Given the description of an element on the screen output the (x, y) to click on. 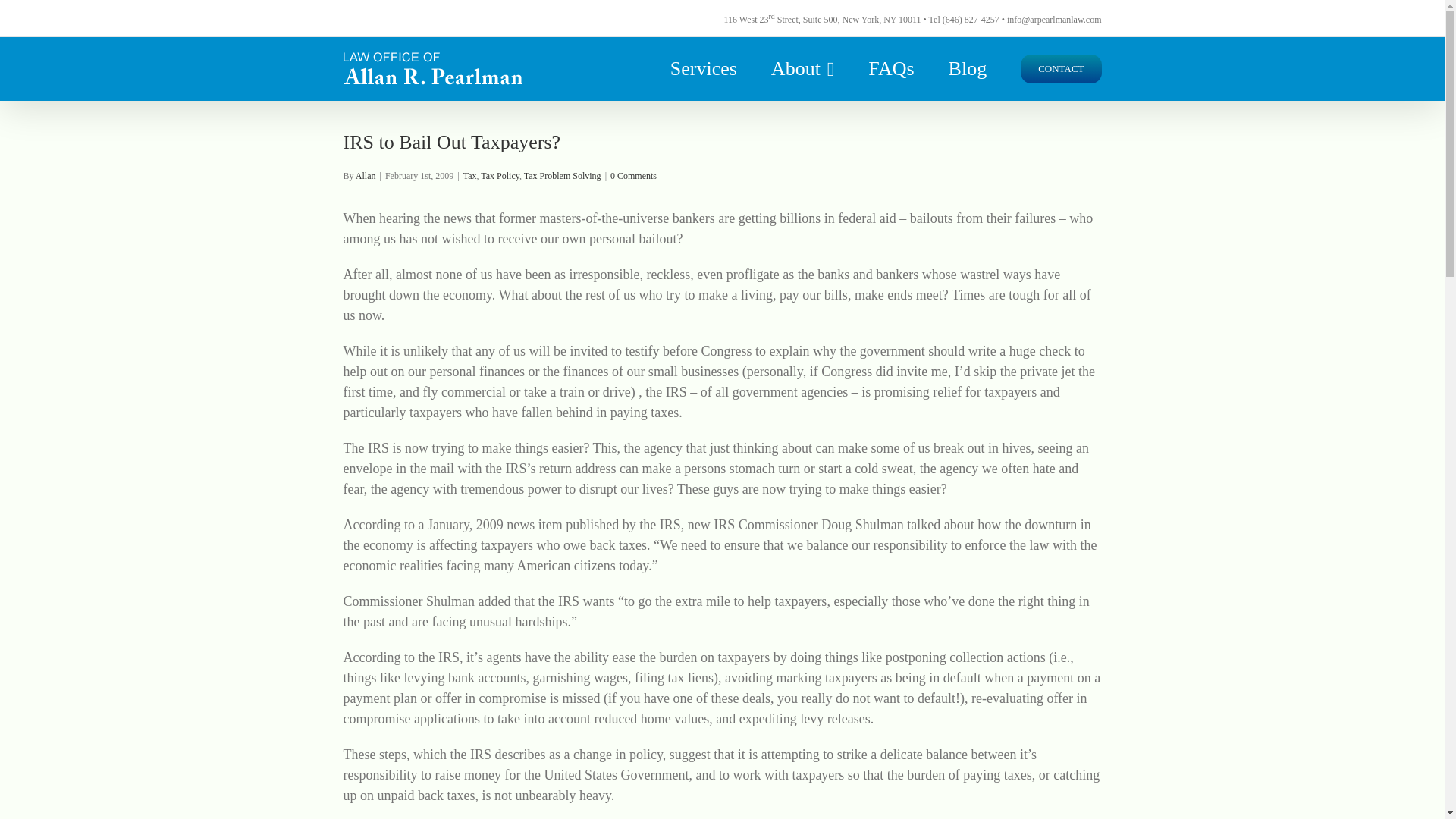
FAQs (890, 68)
Tax Problem Solving (562, 175)
About (802, 68)
0 Comments (633, 175)
CONTACT (1060, 68)
Tax Policy (499, 175)
Tax (470, 175)
Posts by Allan (365, 175)
Allan (365, 175)
Services (702, 68)
Blog (968, 68)
